Given the description of an element on the screen output the (x, y) to click on. 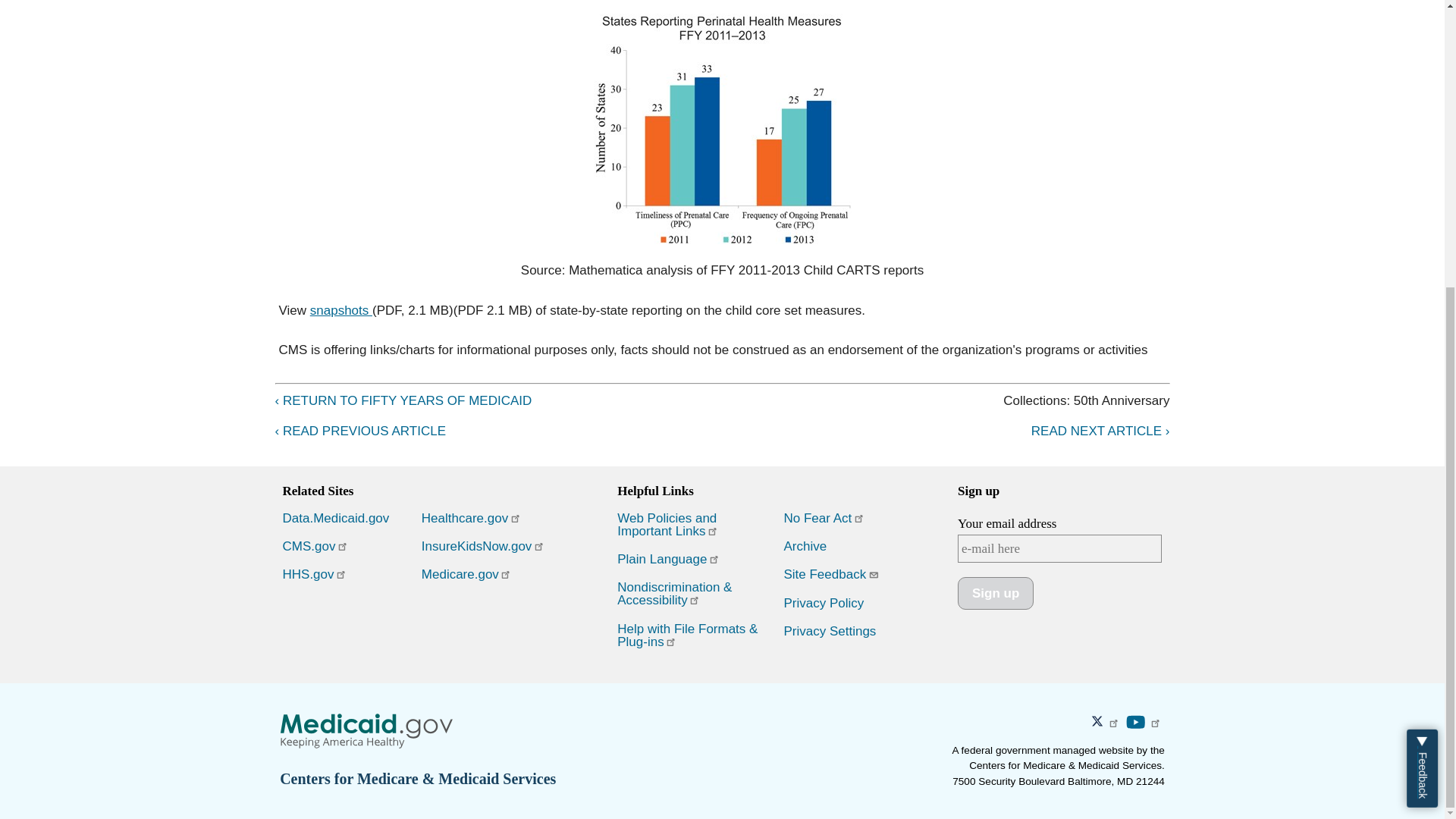
ffy-2013-child-core-set-chart-pack.pdf (341, 310)
Privacy settings (829, 631)
CMS Twitter - Opens in a new window (1107, 722)
CMS YouTube - Opens in a new window (1144, 722)
YouTube (1135, 721)
YouTube (1135, 721)
